Given the description of an element on the screen output the (x, y) to click on. 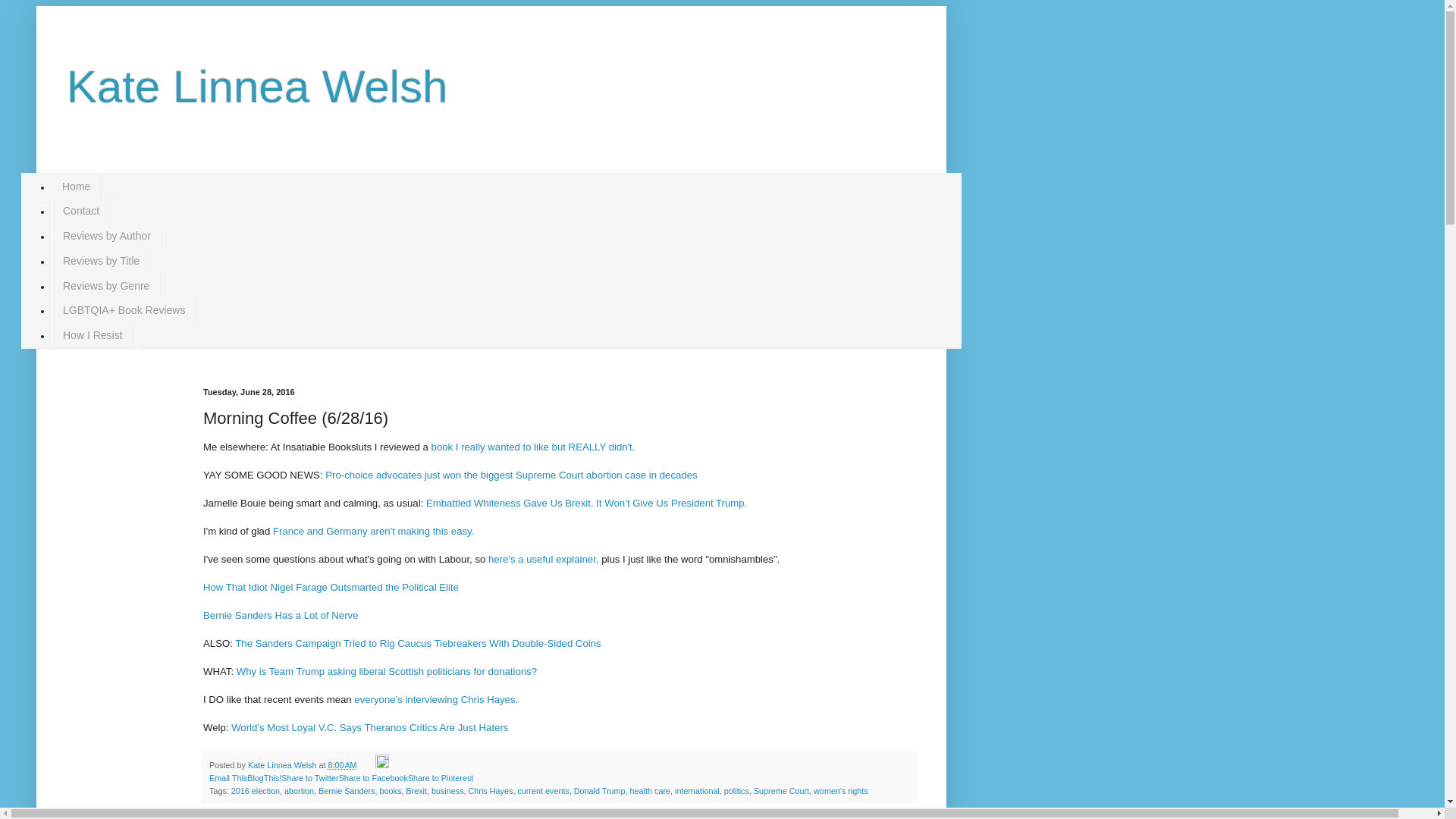
Share to Facebook (373, 777)
Email This (228, 777)
Reviews by Title (100, 260)
BlogThis! (264, 777)
here's a useful explainer, (542, 559)
Share to Twitter (309, 777)
How I Resist (91, 335)
author profile (282, 764)
France and Germany aren't making this easy. (373, 531)
international (697, 790)
books (390, 790)
abortion (298, 790)
How That Idiot Nigel Farage Outsmarted the Political Elite (330, 586)
Donald Trump (599, 790)
